Given the description of an element on the screen output the (x, y) to click on. 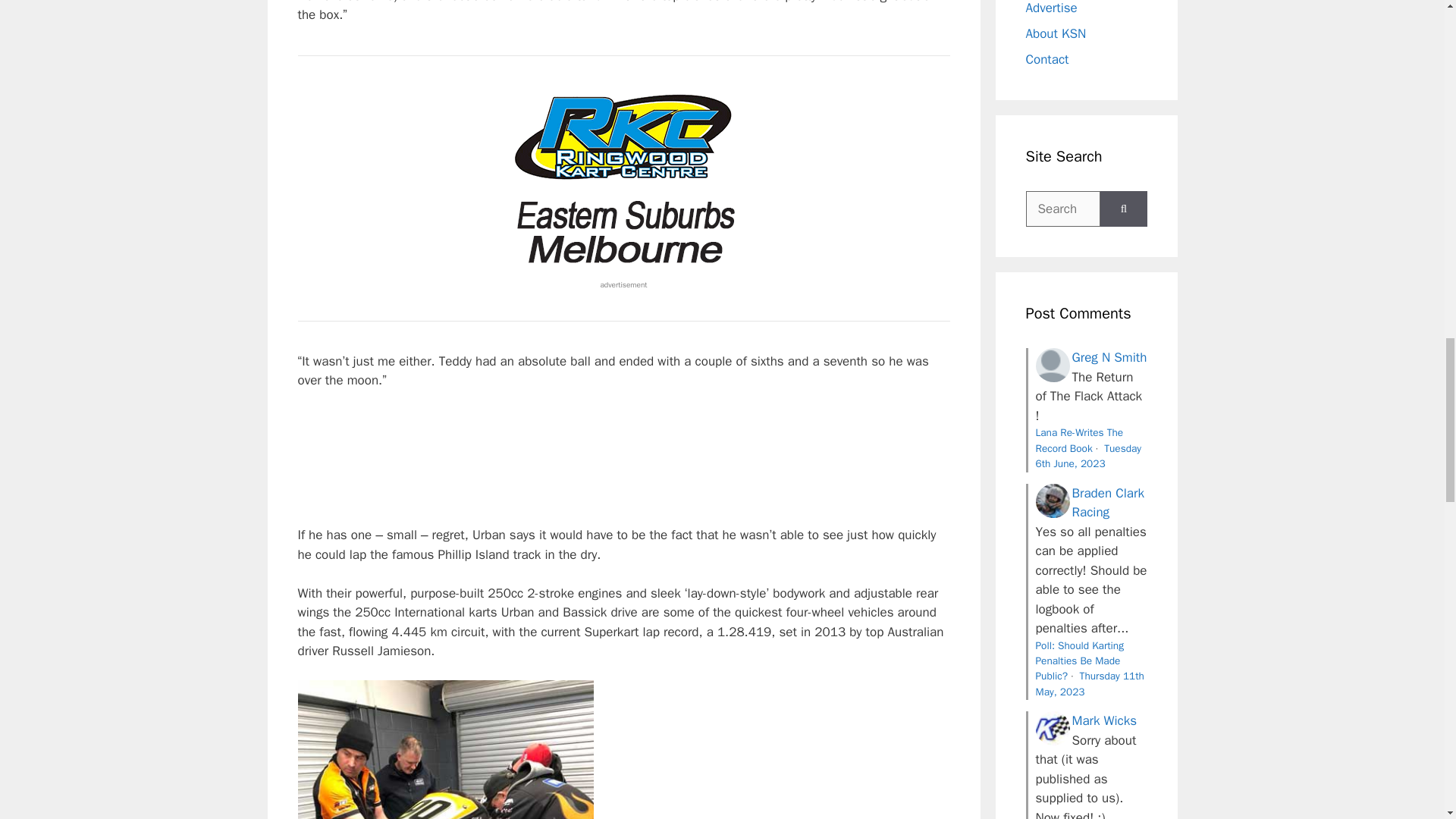
Search for: (1062, 208)
